Given the description of an element on the screen output the (x, y) to click on. 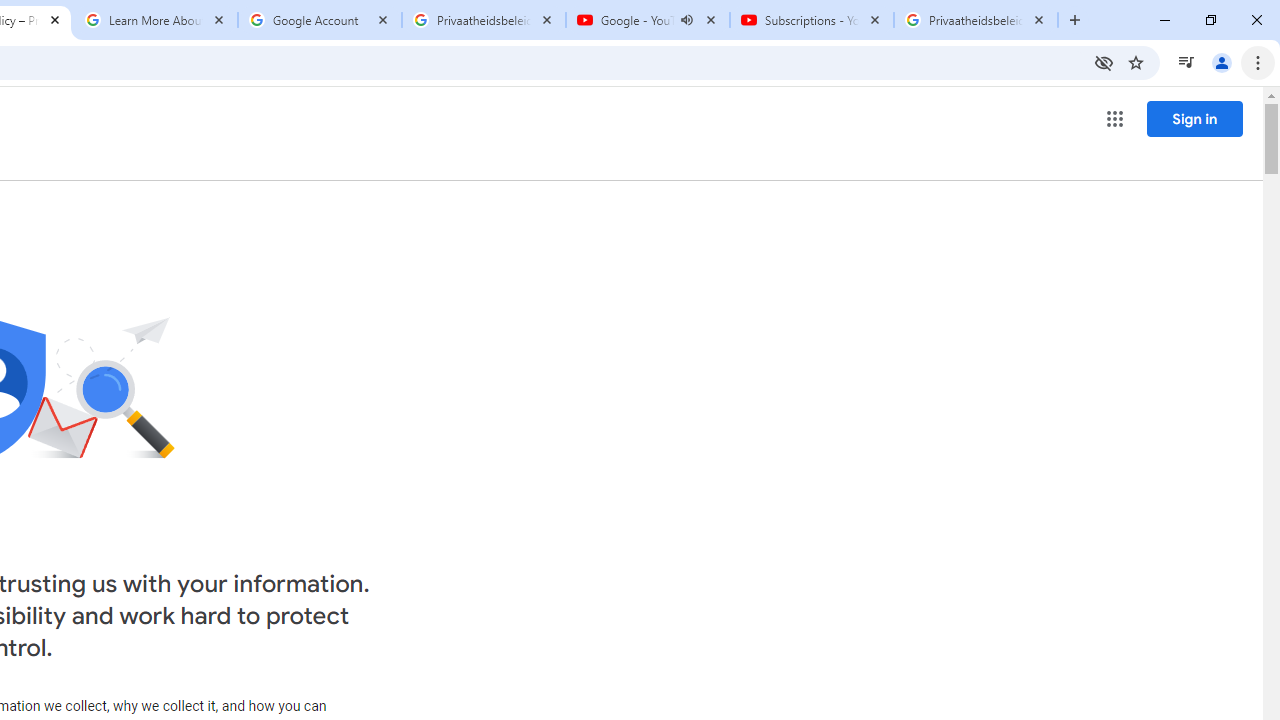
Google Account (319, 20)
Google - YouTube - Audio playing (647, 20)
Subscriptions - YouTube (811, 20)
